Given the description of an element on the screen output the (x, y) to click on. 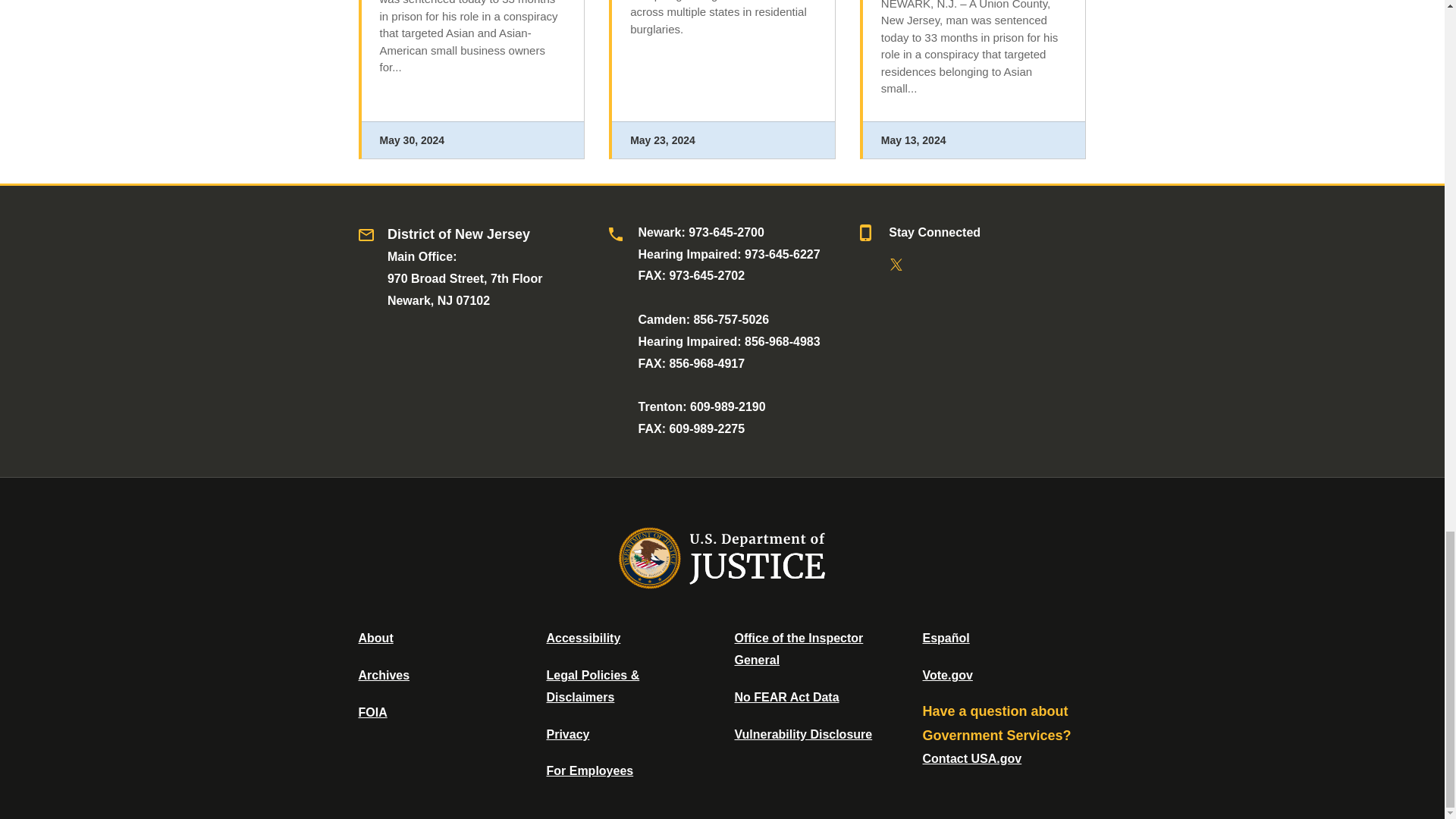
Office of Information Policy (372, 712)
Legal Policies and Disclaimers (592, 686)
Department of Justice Archive (383, 675)
Data Posted Pursuant To The No Fear Act (785, 697)
About DOJ (375, 637)
For Employees (589, 770)
Accessibility Statement (583, 637)
